Given the description of an element on the screen output the (x, y) to click on. 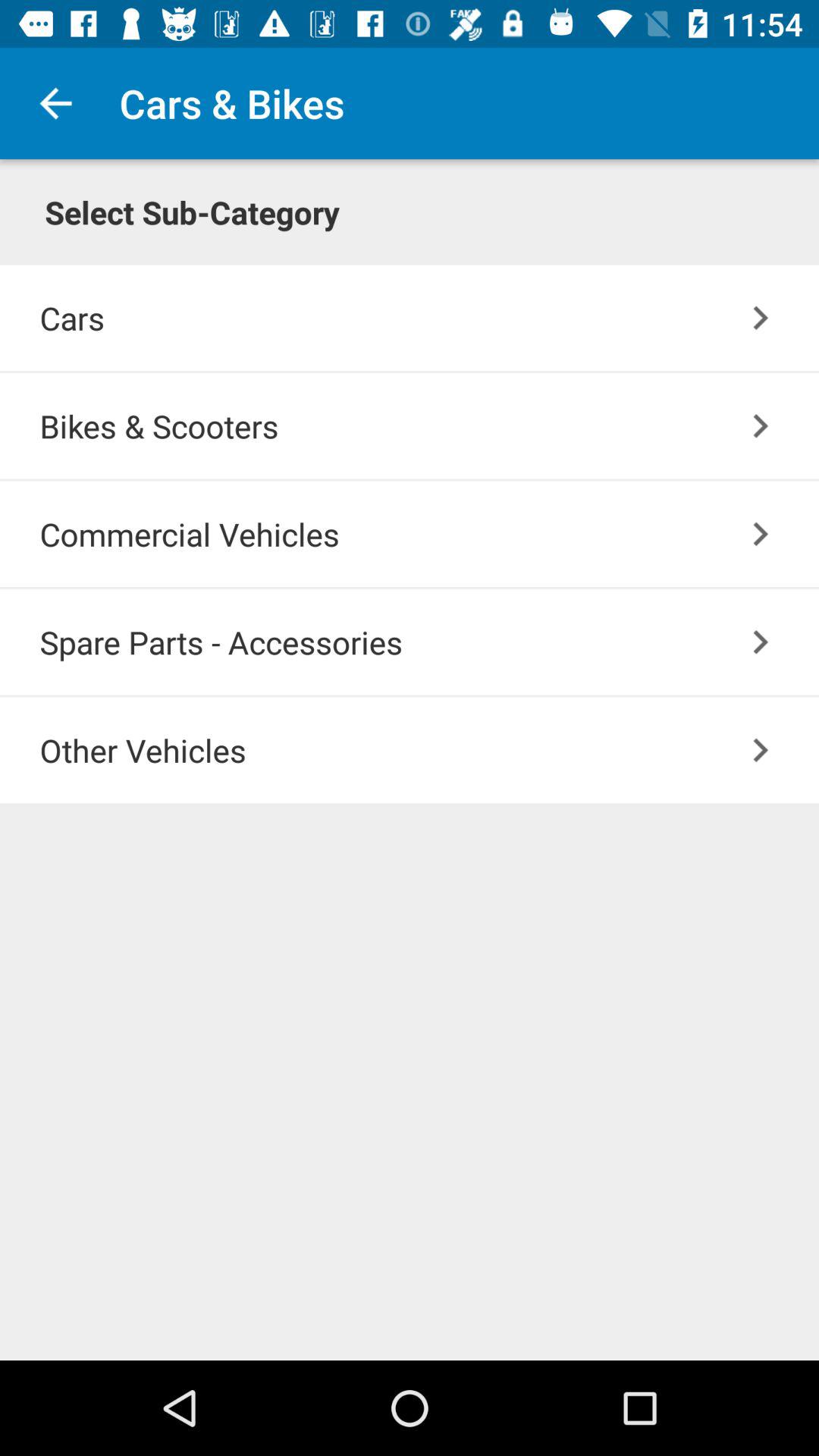
open icon above select sub-category icon (55, 103)
